Given the description of an element on the screen output the (x, y) to click on. 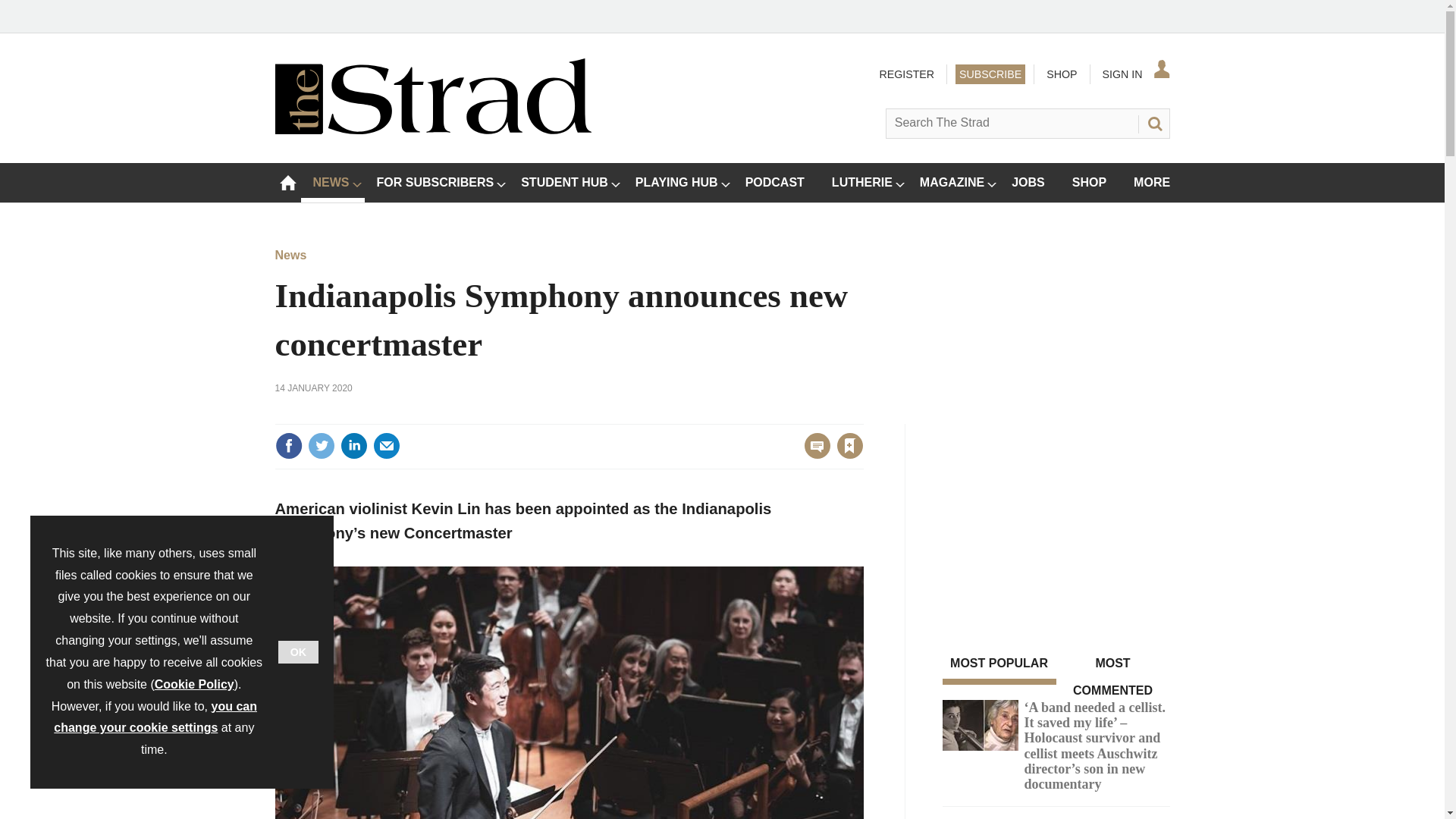
No comments (812, 454)
SHOP (1061, 74)
Share this on Twitter (320, 445)
Email this article (386, 445)
SUBSCRIBE (990, 74)
Insert Logo text (433, 129)
SEARCH (1153, 123)
OK (298, 651)
Share this on Facebook (288, 445)
SIGN IN (1134, 74)
